Given the description of an element on the screen output the (x, y) to click on. 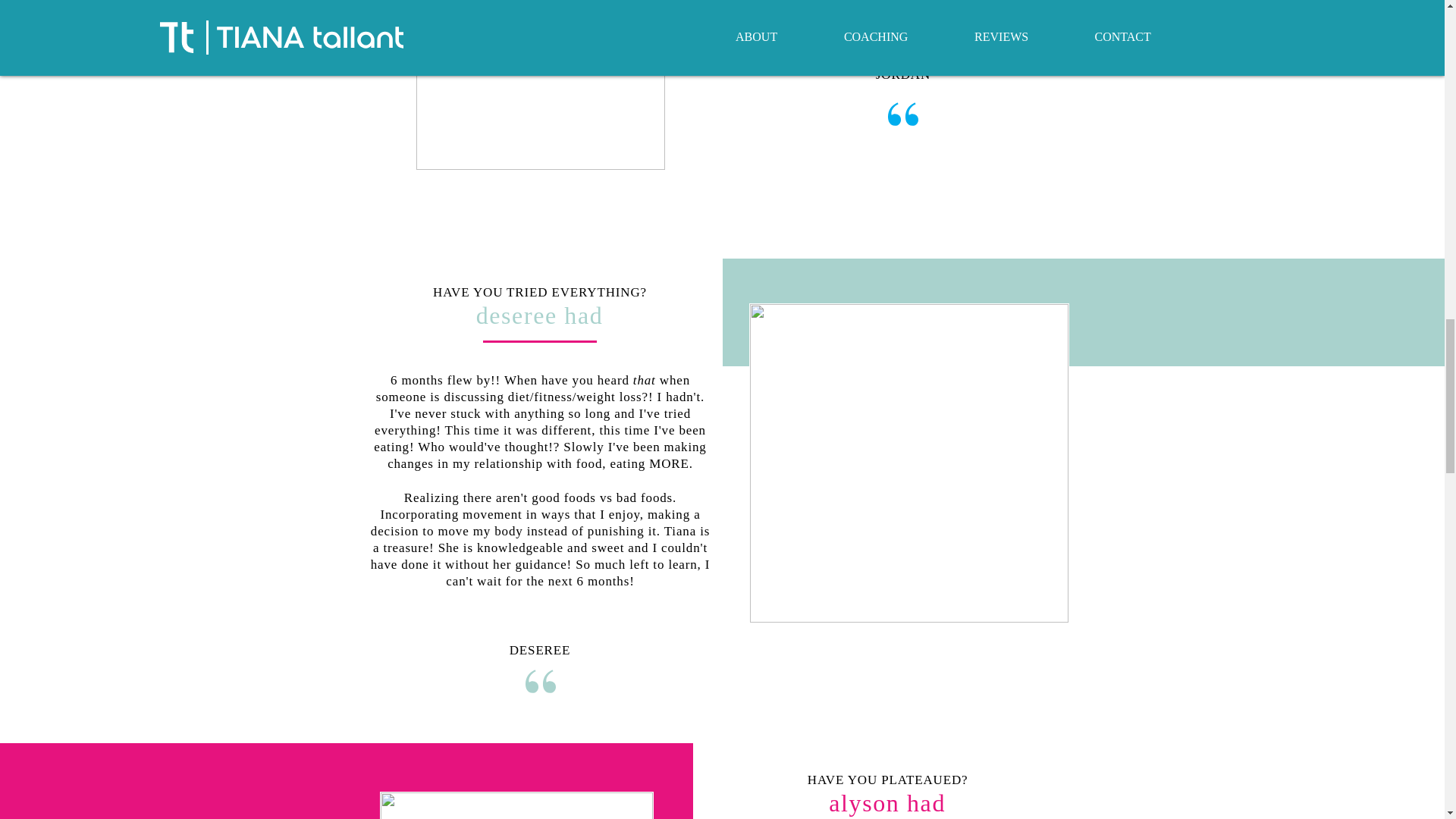
image10.jpg (515, 805)
image3.jpg (539, 85)
image1.jpg (908, 463)
